Given the description of an element on the screen output the (x, y) to click on. 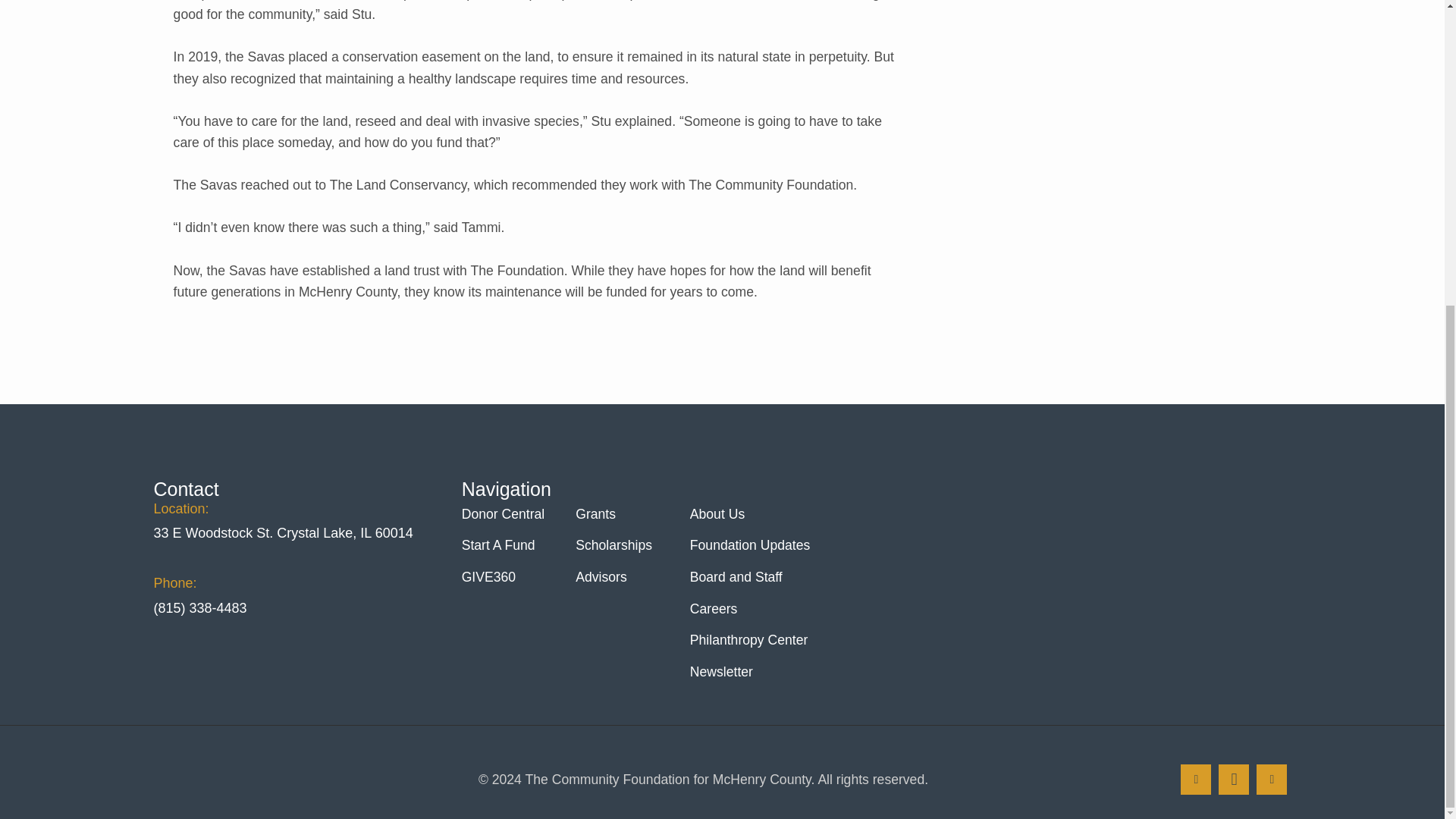
GIVE360 (490, 577)
Advisors (602, 577)
Philanthropy Center (751, 640)
Start A Fund (499, 545)
Foundation Updates (751, 545)
About Us (719, 514)
Careers (715, 609)
Board and Staff (738, 577)
Donor Central (504, 514)
Scholarships (615, 545)
